Given the description of an element on the screen output the (x, y) to click on. 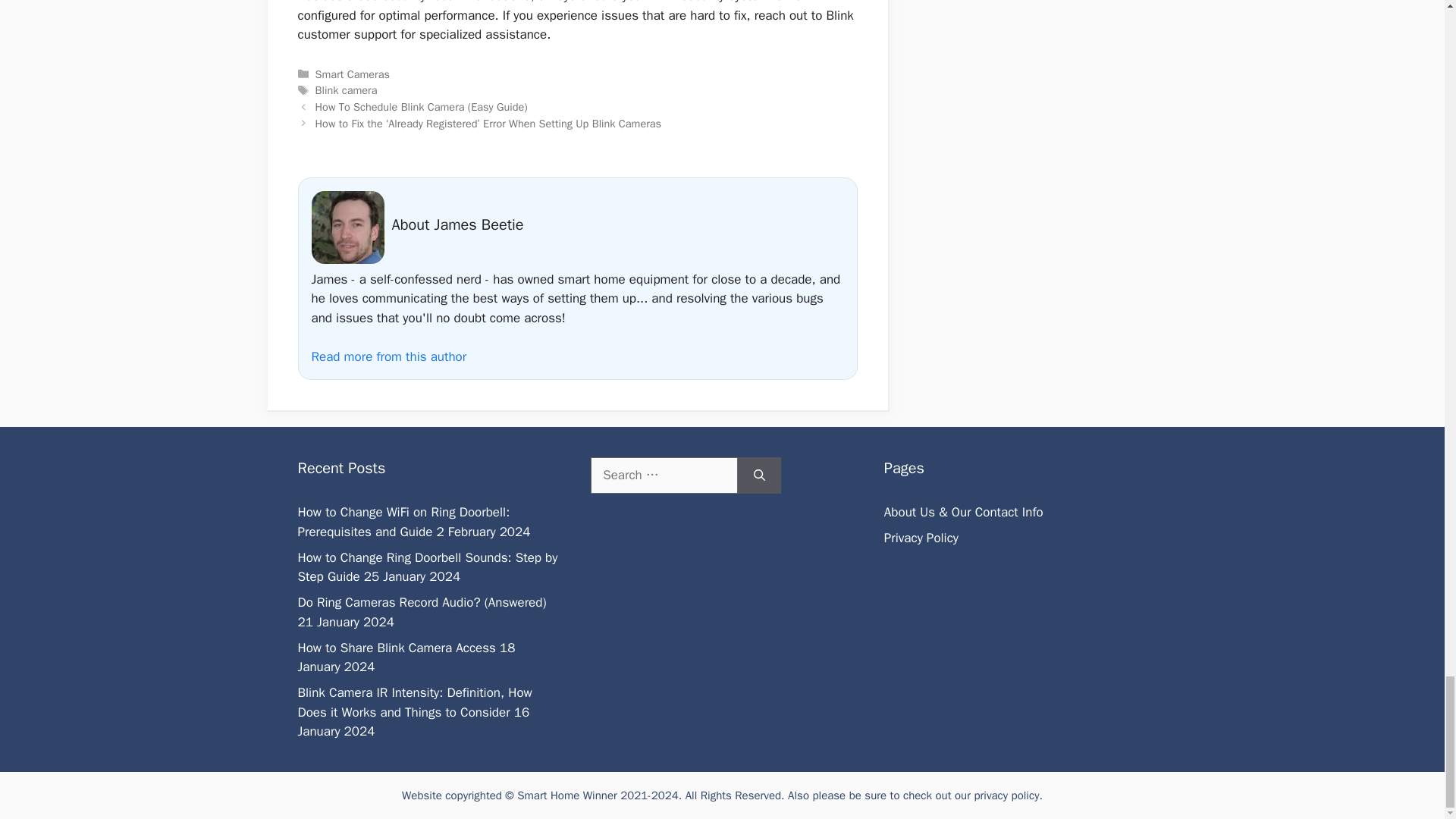
How to Change Ring Doorbell Sounds: Step by Step Guide (427, 567)
Blink camera (346, 90)
How to Change WiFi on Ring Doorbell: Prerequisites and Guide (403, 521)
Read more (388, 356)
Smart Cameras (352, 74)
Read more from this author (388, 356)
How to Share Blink Camera Access (396, 647)
Search for: (664, 475)
